Given the description of an element on the screen output the (x, y) to click on. 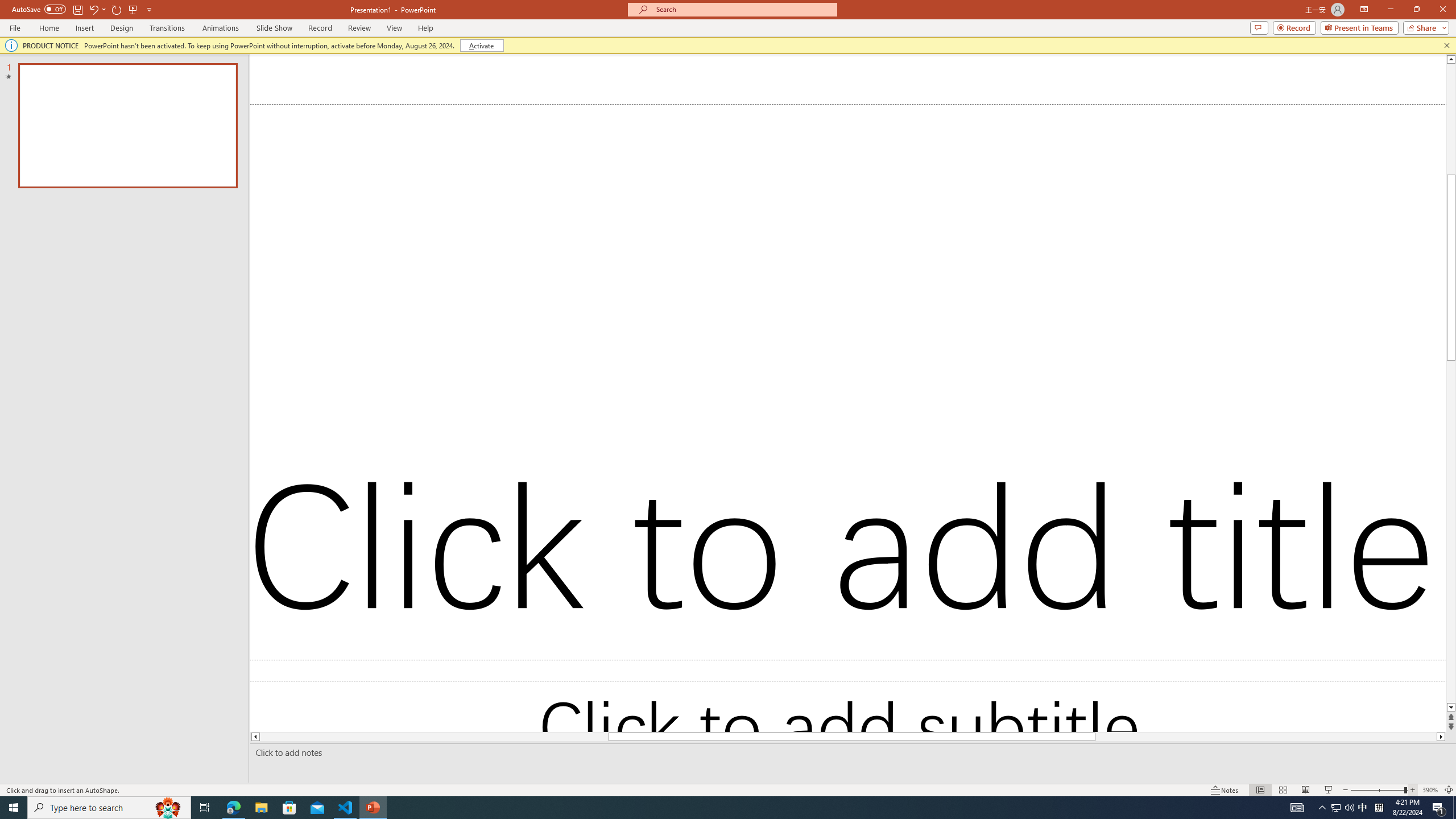
Present in Teams (1359, 27)
Review (359, 28)
